Given the description of an element on the screen output the (x, y) to click on. 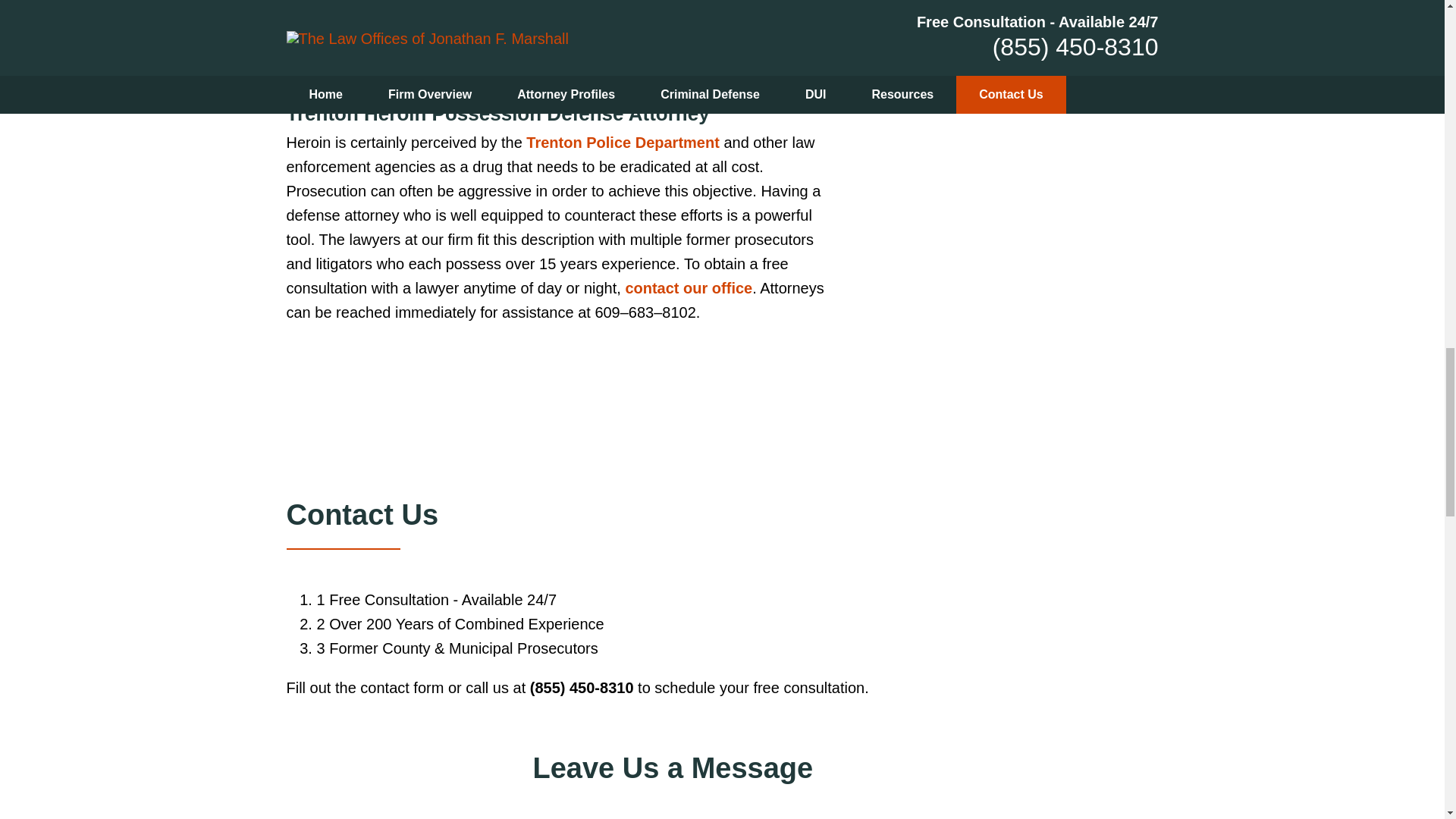
Pretrial Intervention (514, 14)
contact our office (688, 288)
Trenton Police Department (622, 142)
